Given the description of an element on the screen output the (x, y) to click on. 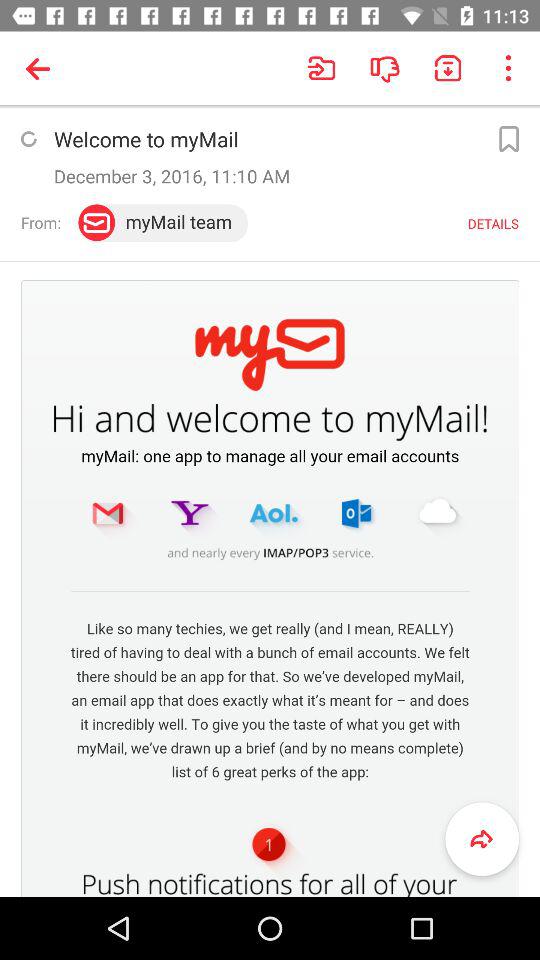
refresh (28, 139)
